Given the description of an element on the screen output the (x, y) to click on. 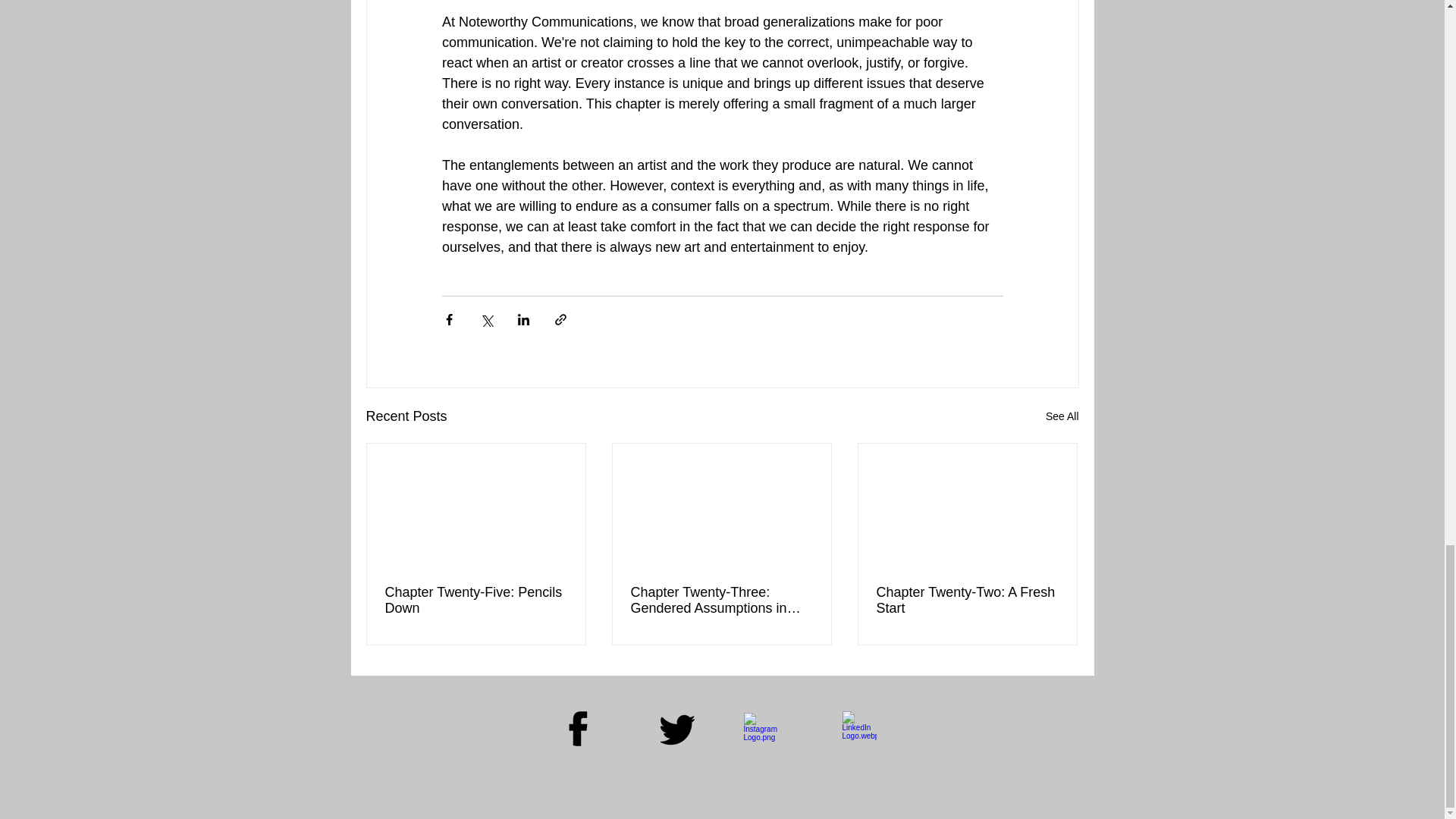
Chapter Twenty-Two: A Fresh Start (967, 600)
Chapter Twenty-Three: Gendered Assumptions in Language (721, 600)
Chapter Twenty-Five: Pencils Down (476, 600)
See All (1061, 416)
